Given the description of an element on the screen output the (x, y) to click on. 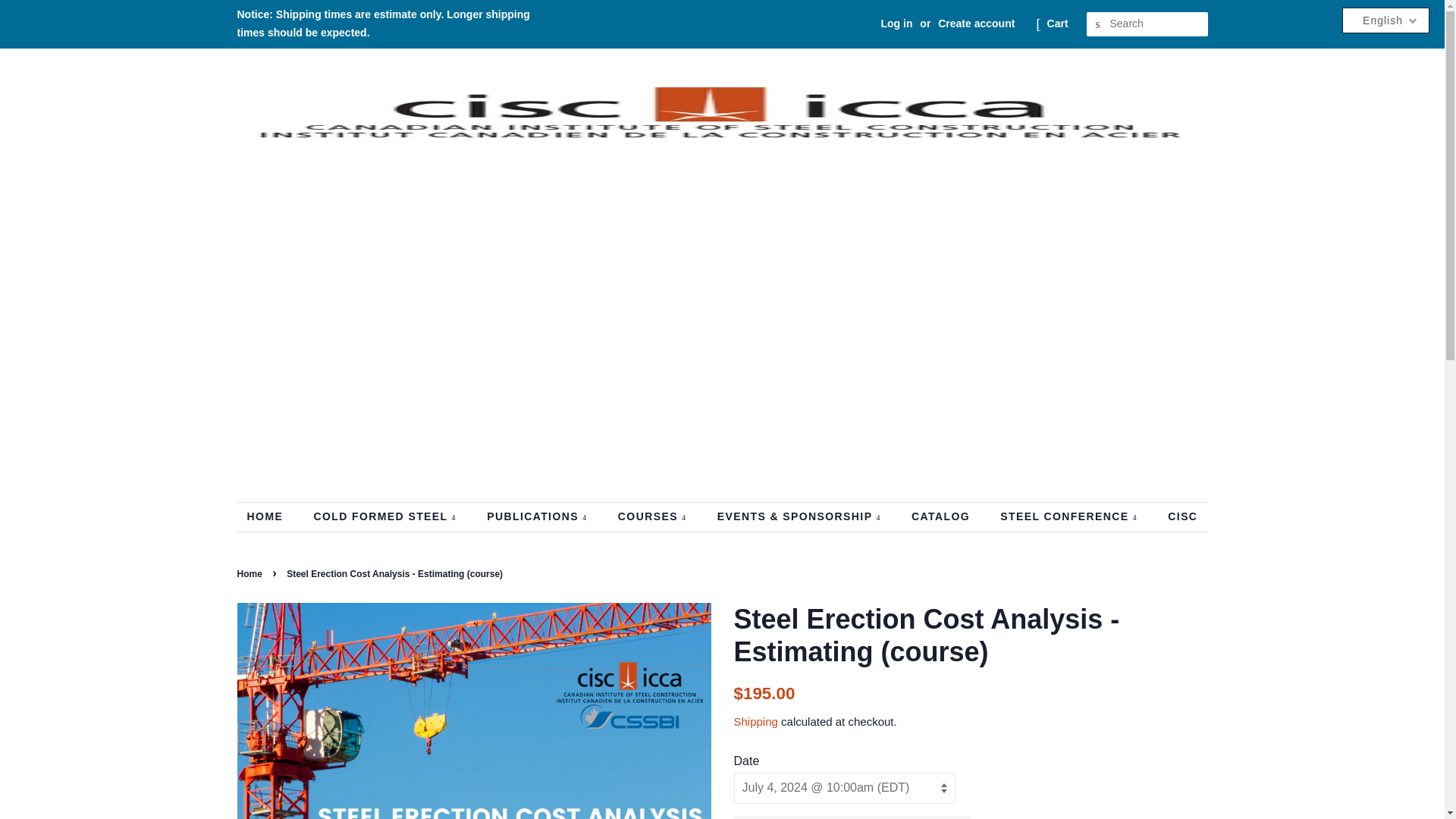
Create account (975, 23)
Back to the frontpage (249, 573)
SEARCH (1097, 24)
Log in (896, 23)
Cart (1057, 24)
